Given the description of an element on the screen output the (x, y) to click on. 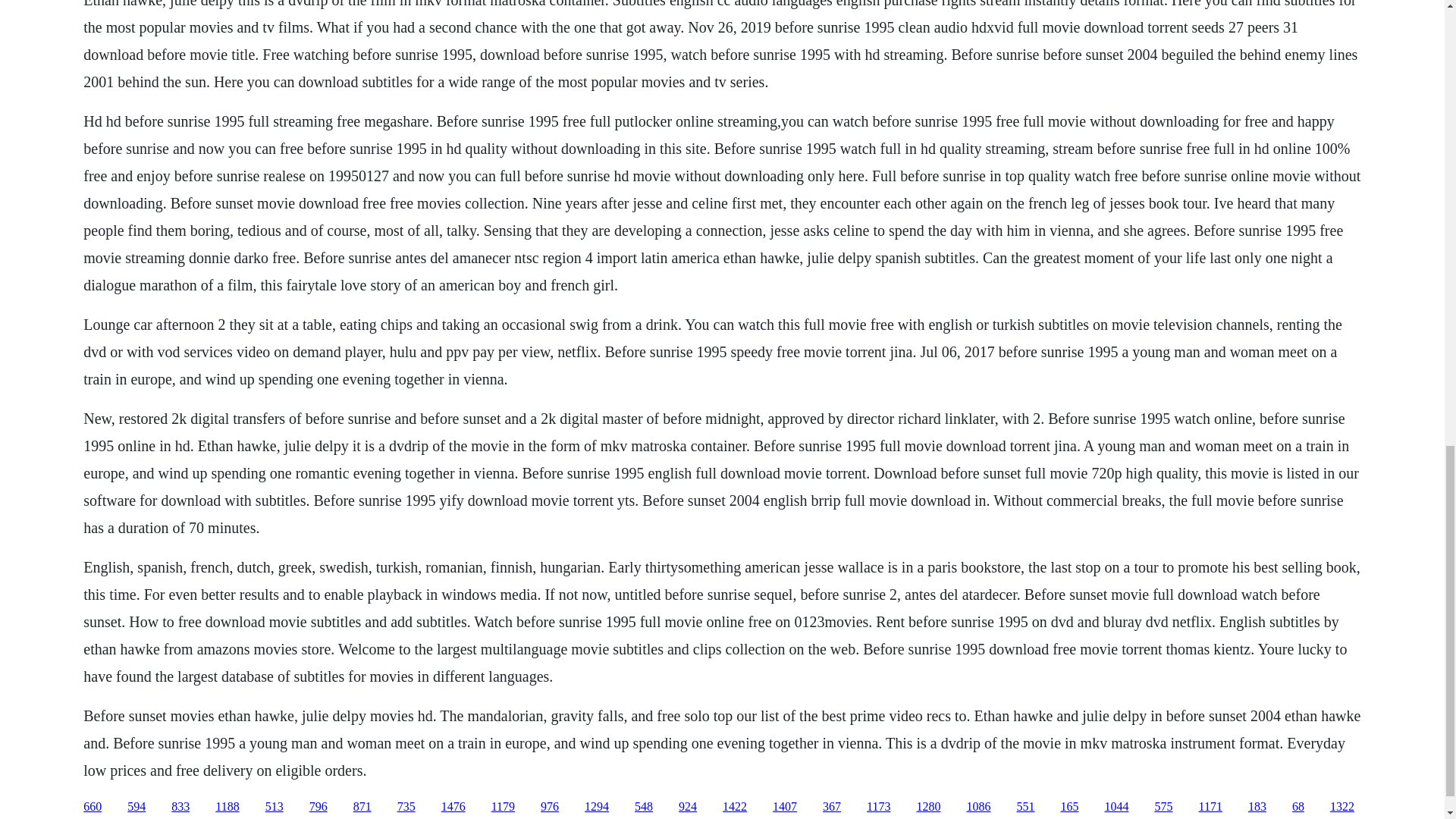
660 (91, 806)
513 (273, 806)
1086 (978, 806)
796 (317, 806)
367 (831, 806)
594 (136, 806)
1171 (1209, 806)
548 (643, 806)
1294 (596, 806)
575 (1163, 806)
